Given the description of an element on the screen output the (x, y) to click on. 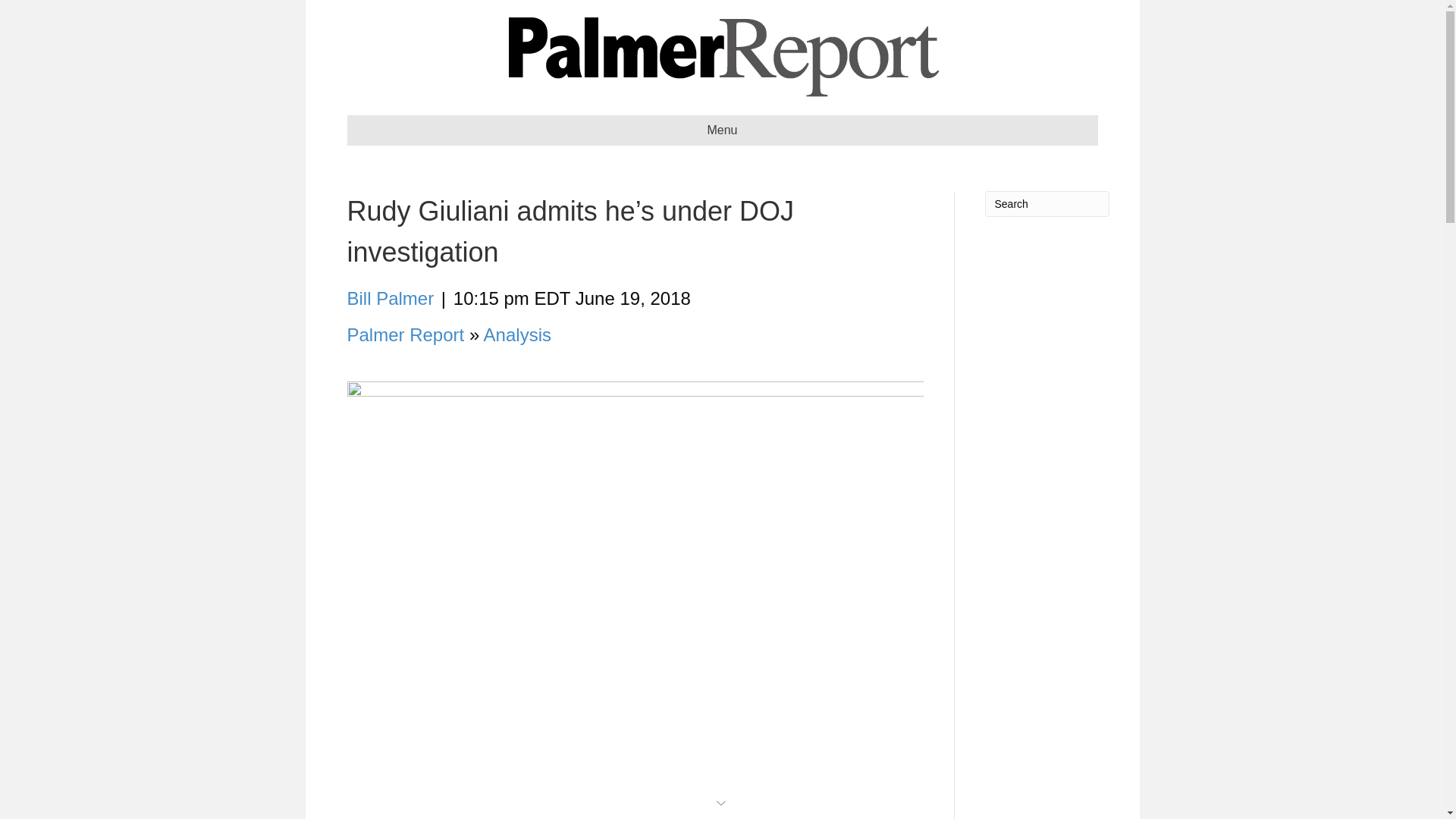
Posts by Bill Palmer (390, 298)
Ad.Plus Advertising (722, 801)
Menu (722, 130)
Search (1046, 203)
Analysis (517, 334)
Palmer Report (405, 334)
Type and press Enter to search. (1046, 203)
Search (1046, 203)
Bill Palmer (390, 298)
